Given the description of an element on the screen output the (x, y) to click on. 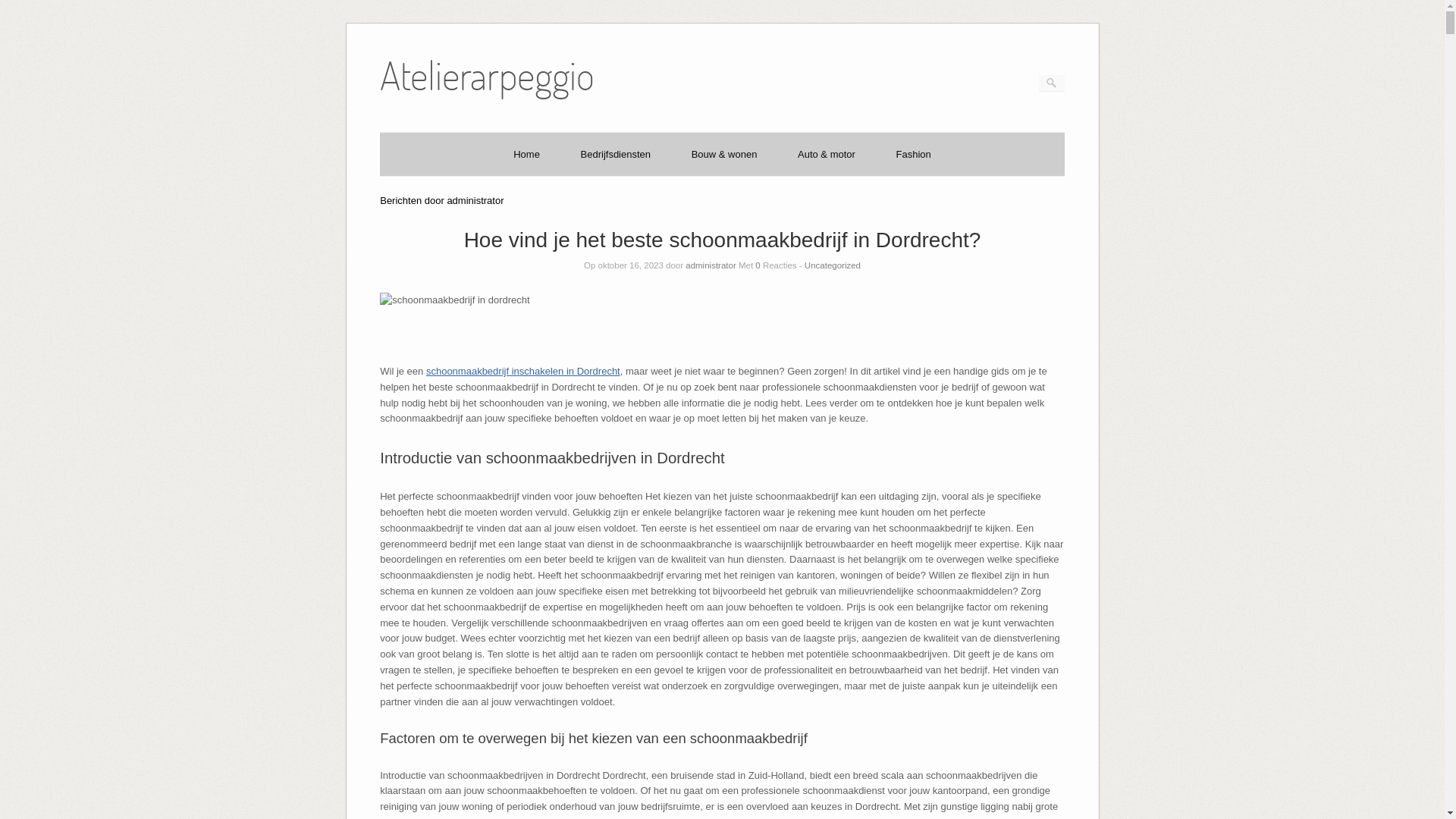
Zoeken Element type: text (22, 7)
administrator Element type: text (710, 264)
Bouw & wonen Element type: text (724, 154)
Ga naar de inhoud Element type: text (379, 39)
Fashion Element type: text (913, 154)
Hoe vind je het beste schoonmaakbedrijf in Dordrecht? Element type: text (722, 239)
Bedrijfsdiensten Element type: text (615, 154)
Uncategorized Element type: text (832, 264)
schoonmaakbedrijf inschakelen in Dordrecht Element type: text (523, 370)
Atelierarpeggio Element type: text (486, 96)
Auto & motor Element type: text (826, 154)
Home Element type: text (526, 154)
